Given the description of an element on the screen output the (x, y) to click on. 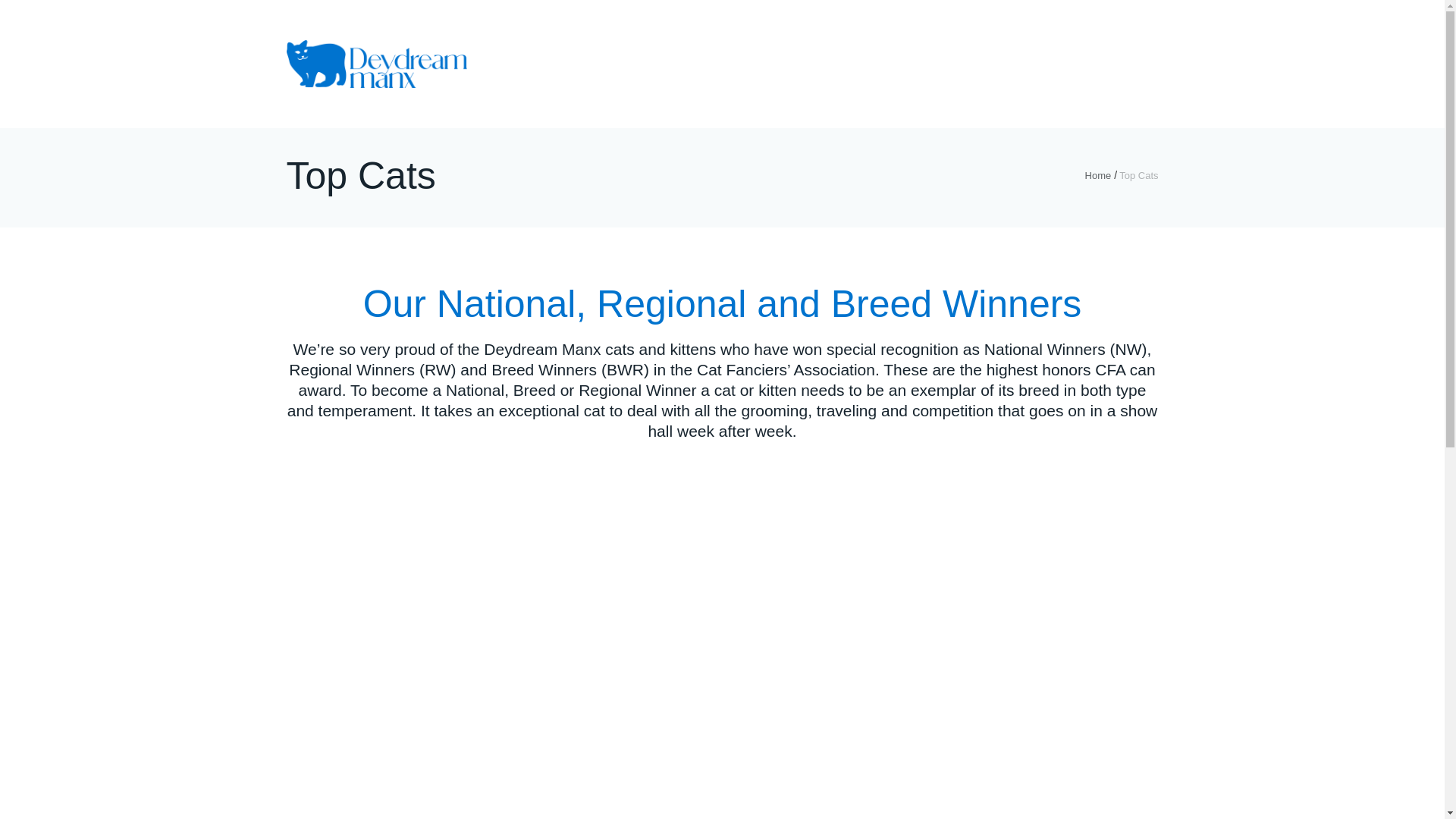
Home (1098, 175)
